Given the description of an element on the screen output the (x, y) to click on. 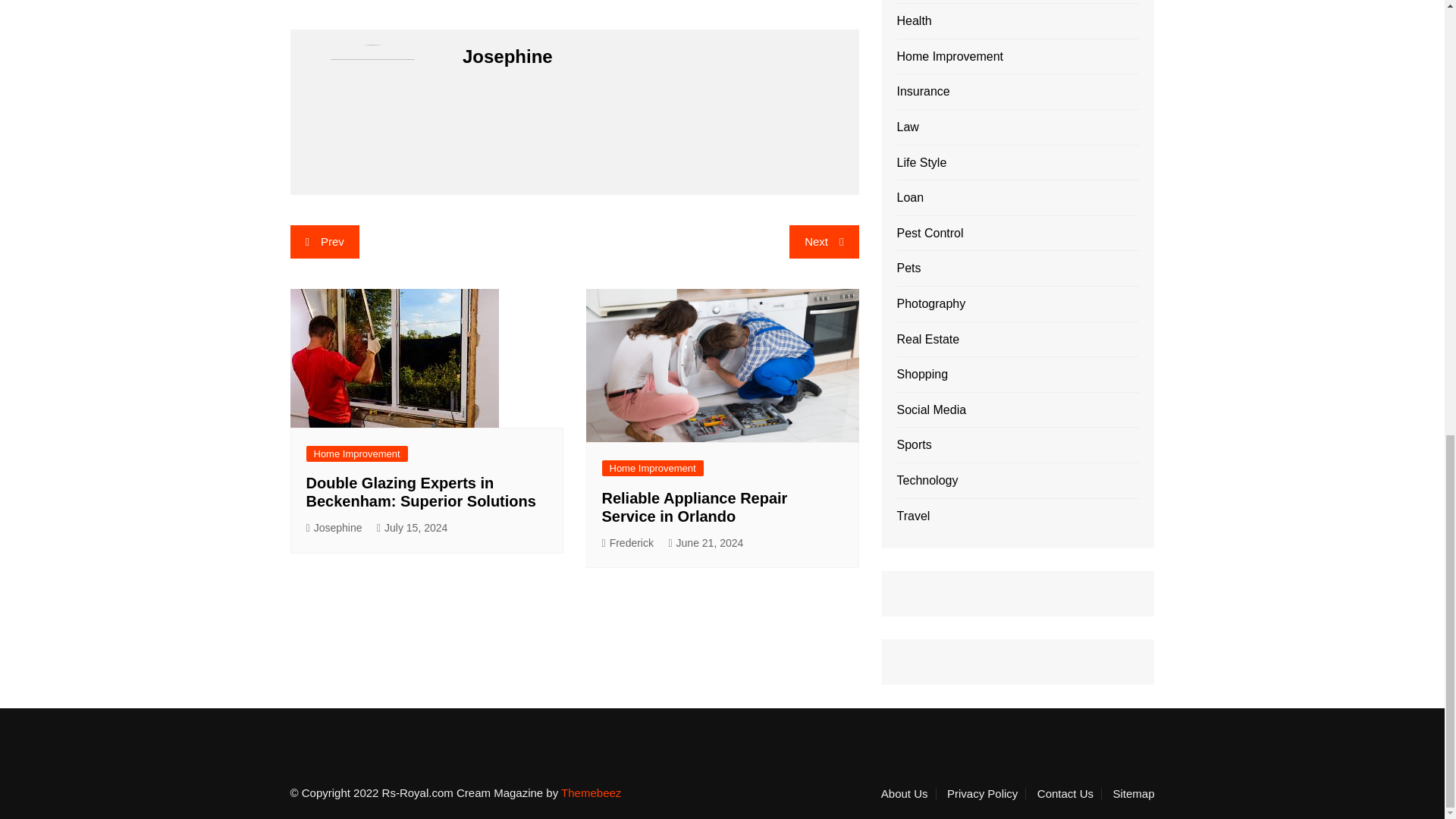
July 15, 2024 (411, 528)
June 21, 2024 (705, 543)
Josephine (333, 528)
Home Improvement (356, 453)
Double Glazing Experts in Beckenham: Superior Solutions (420, 492)
Next (824, 241)
Reliable Appliance Repair Service in Orlando (694, 506)
Prev (323, 241)
Frederick (627, 543)
Home Improvement (652, 467)
